Given the description of an element on the screen output the (x, y) to click on. 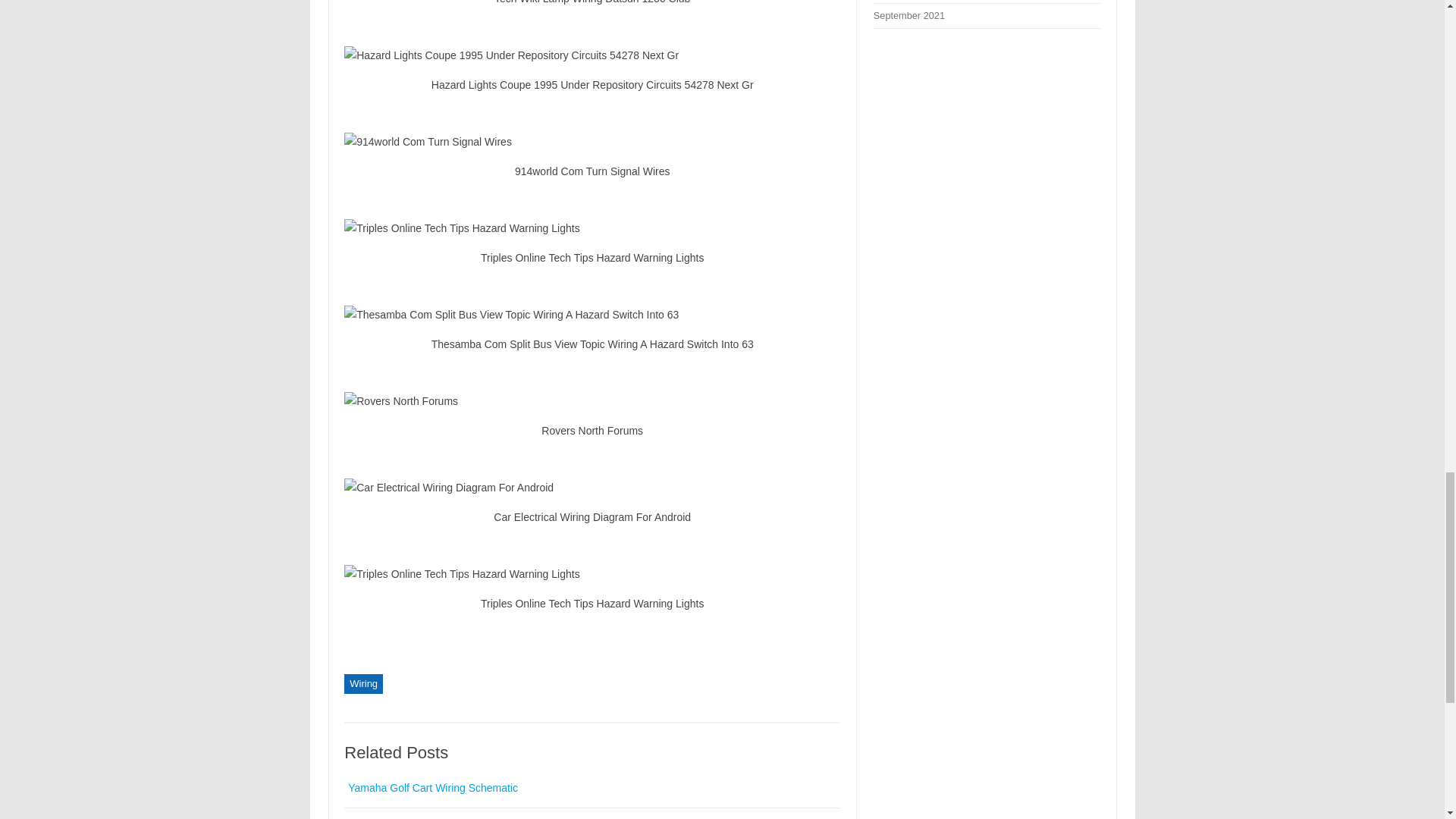
Triples Online Tech Tips Hazard Warning Lights (591, 228)
Yamaha Golf Cart Wiring Schematic (432, 787)
914world Com Turn Signal Wires (591, 141)
Wiring (362, 683)
